Given the description of an element on the screen output the (x, y) to click on. 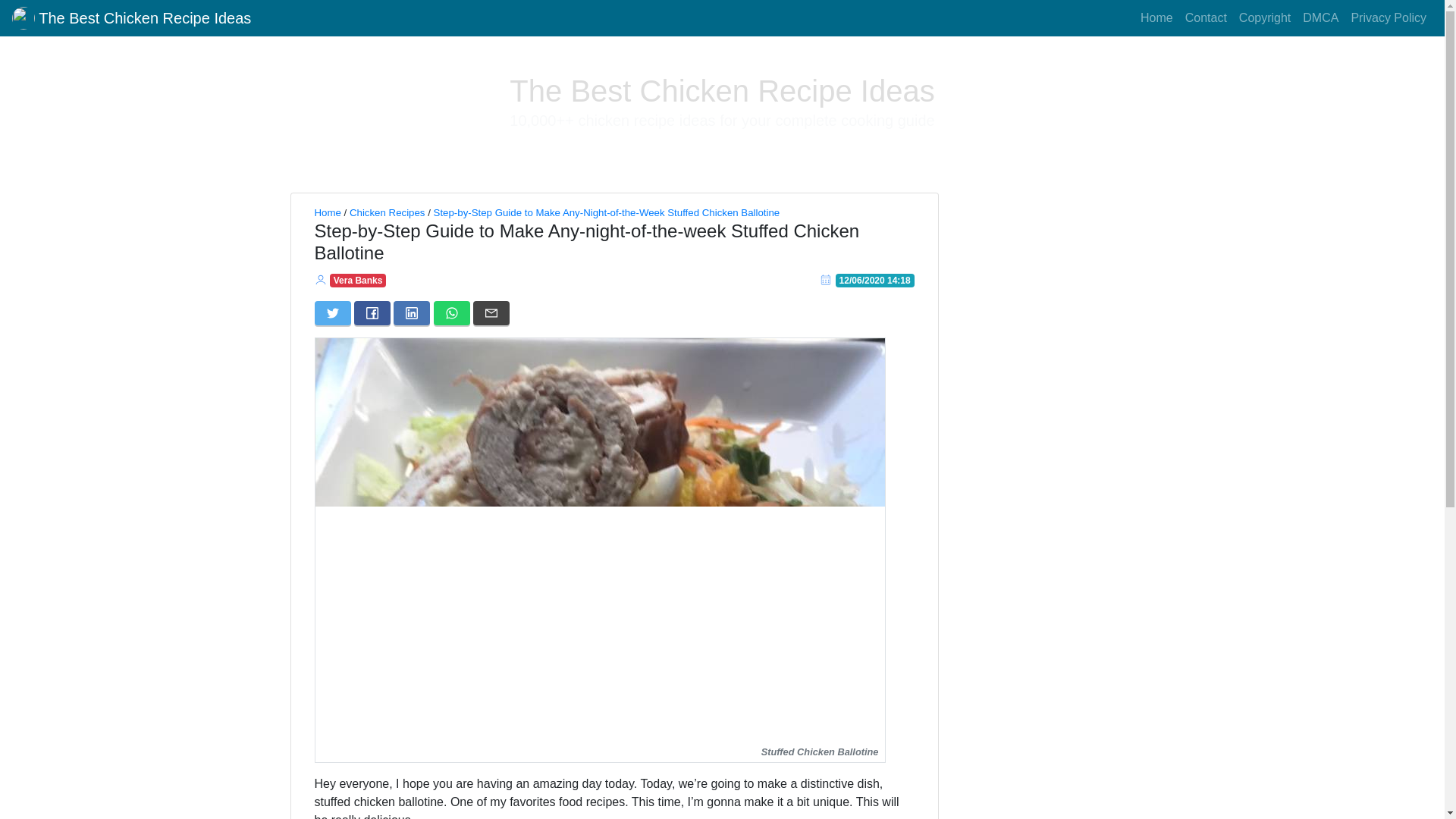
Contact (1206, 18)
Home (327, 212)
DMCA (1320, 18)
Privacy Policy (1387, 18)
The Best Chicken Recipe Ideas (721, 90)
Home (1156, 18)
Copyright (1265, 18)
Chicken Recipes (387, 212)
The Best Chicken Recipe Ideas (130, 18)
Vera Banks (357, 280)
